Given the description of an element on the screen output the (x, y) to click on. 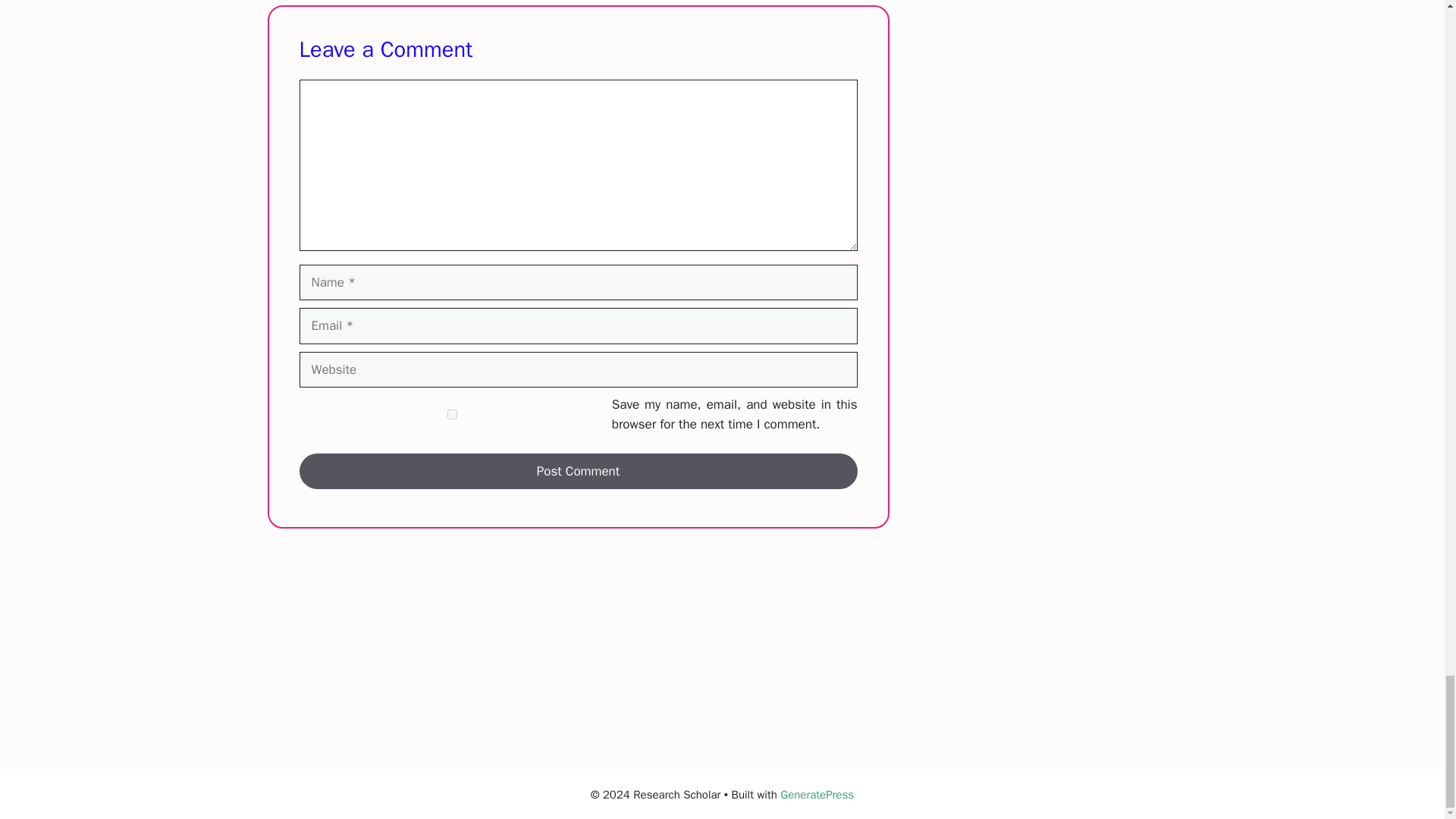
yes (451, 414)
Post Comment (577, 471)
